Given the description of an element on the screen output the (x, y) to click on. 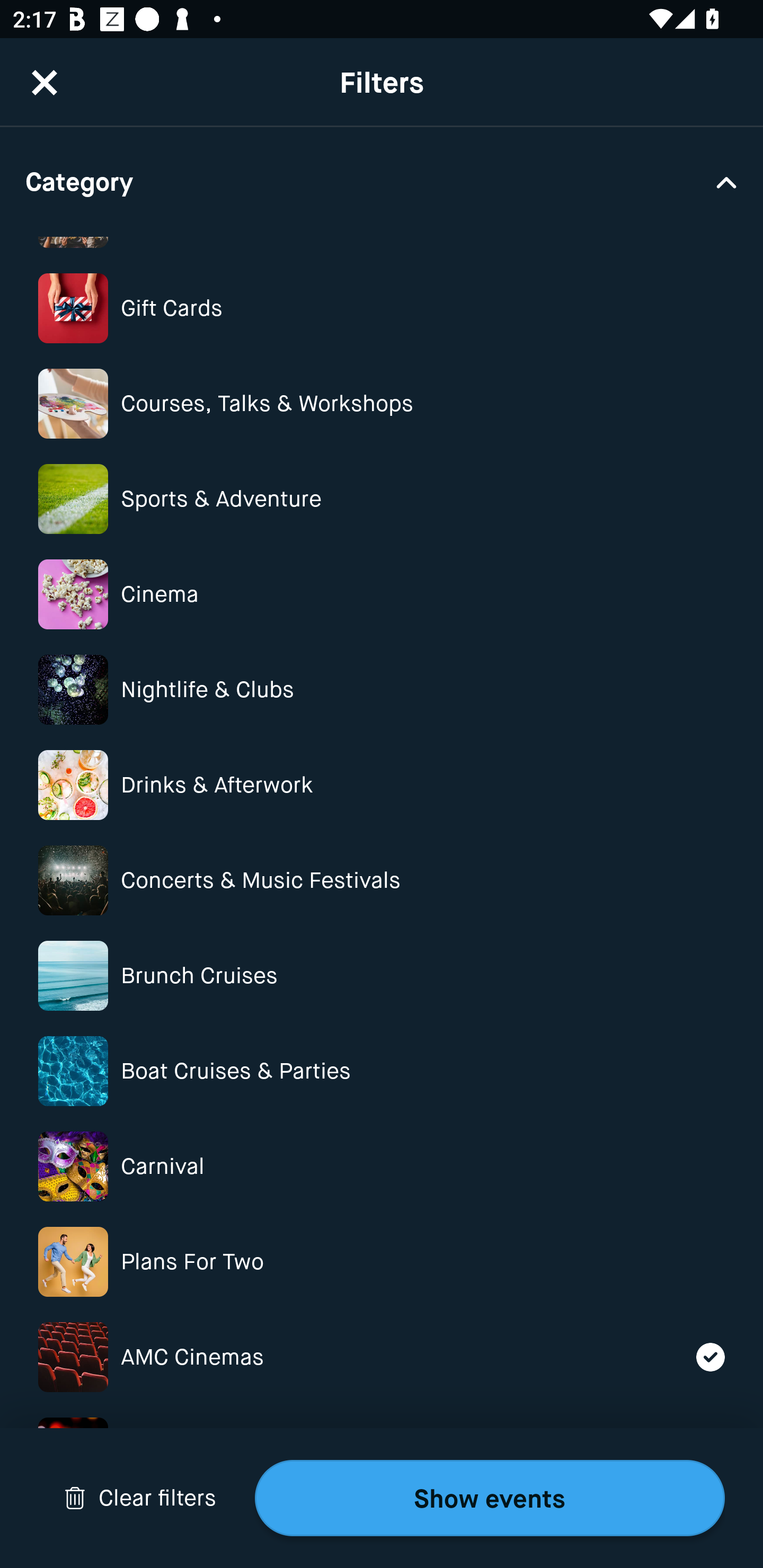
Category Drop Down Arrow (381, 181)
Category Image Gift Cards (381, 307)
Category Image Courses, Talks & Workshops (381, 403)
Category Image Sports & Adventure (381, 498)
Category Image Cinema (381, 593)
Category Image Nightlife & Clubs (381, 689)
Category Image Drinks & Afterwork (381, 784)
Category Image Concerts & Music Festivals (381, 880)
Category Image Brunch Cruises (381, 975)
Category Image Boat Cruises & Parties (381, 1070)
Category Image Carnival (381, 1166)
Category Image Plans For Two (381, 1261)
Category Image AMC Cinemas Selected Icon (381, 1356)
Drop Down Arrow Clear filters (139, 1497)
Show events (489, 1497)
